Given the description of an element on the screen output the (x, y) to click on. 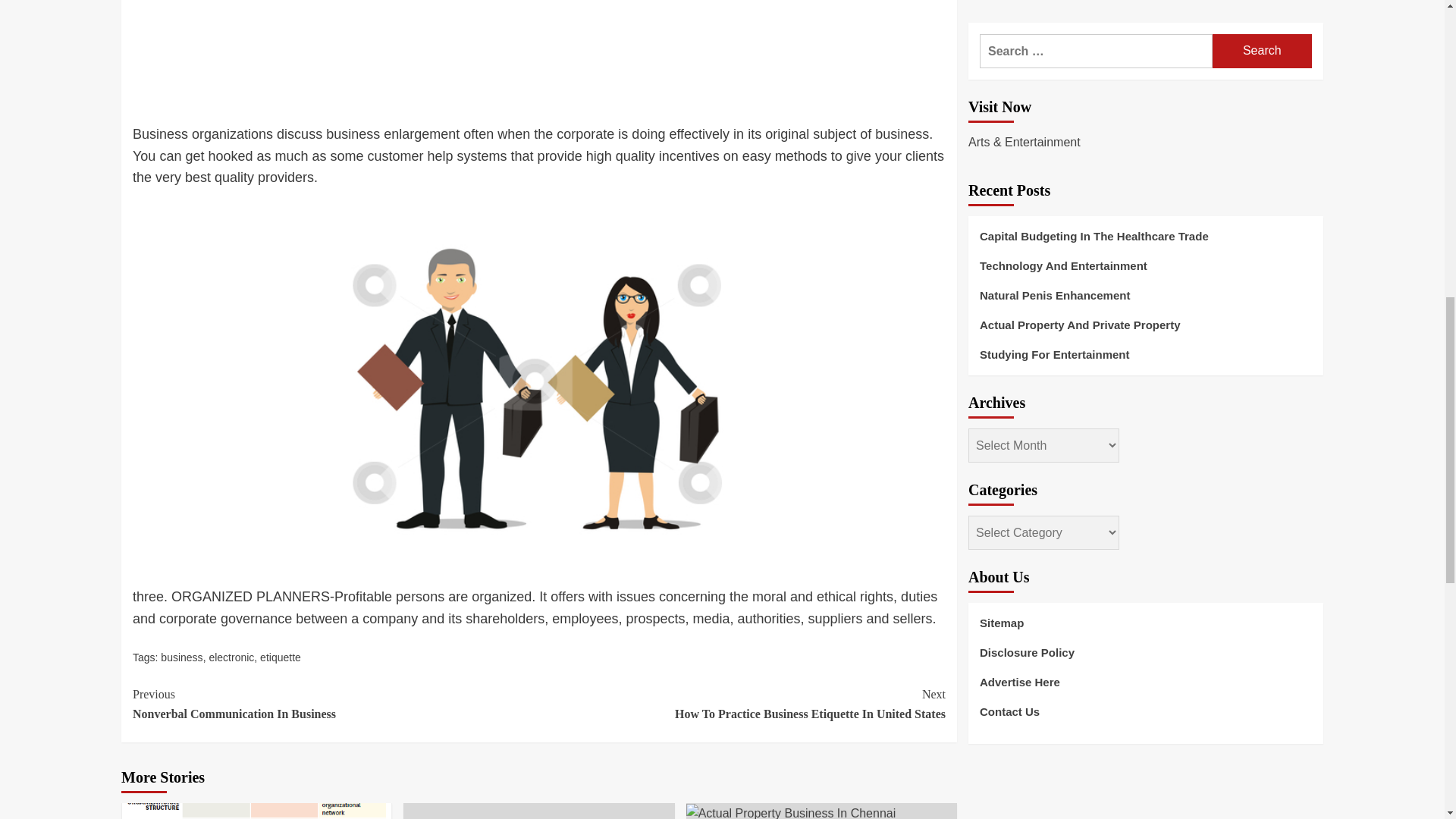
business (181, 657)
etiquette (280, 657)
electronic (335, 703)
